Given the description of an element on the screen output the (x, y) to click on. 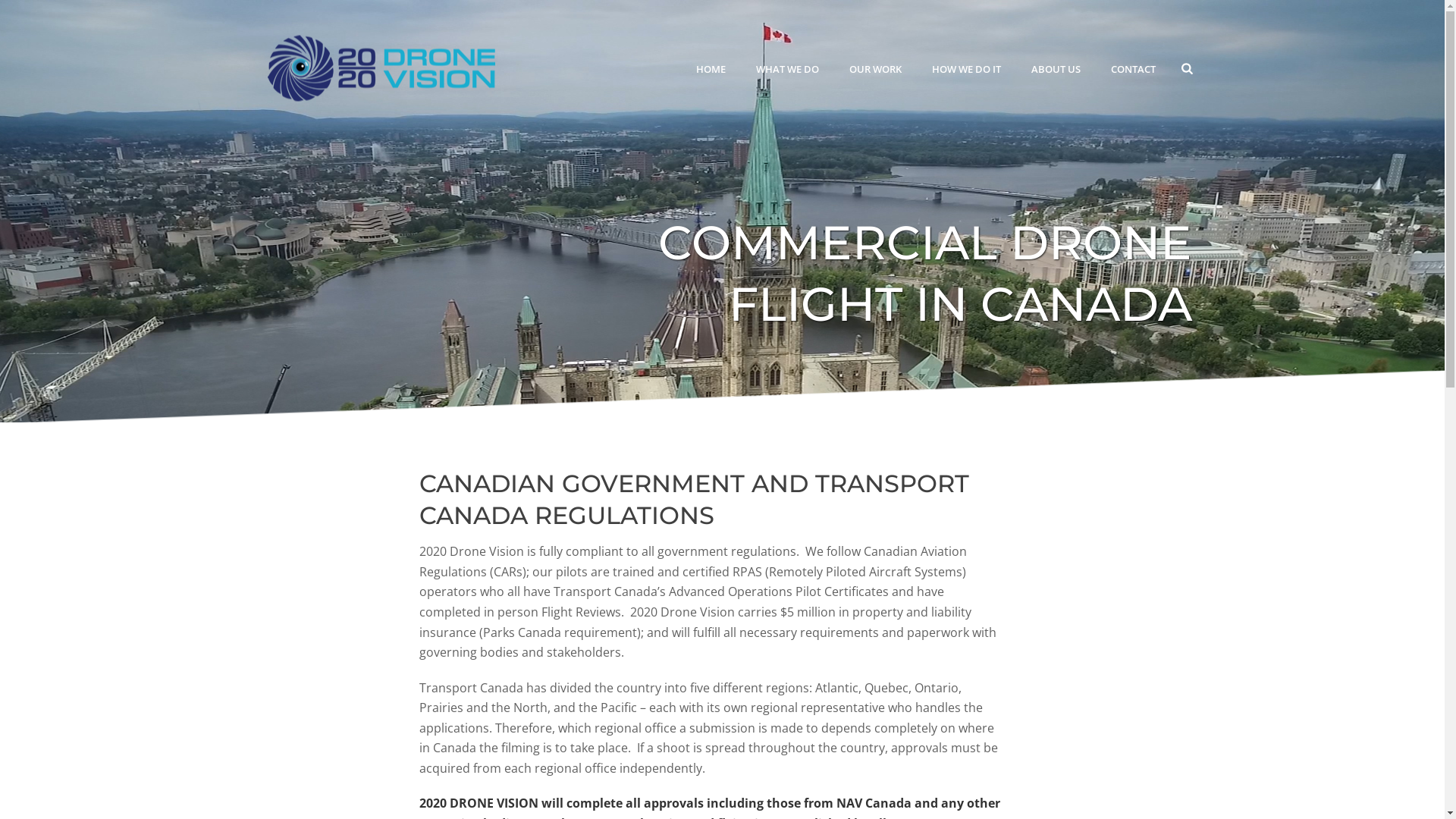
CONTACT Element type: text (1132, 68)
HOW WE DO IT Element type: text (966, 68)
WHAT WE DO Element type: text (787, 68)
ABOUT US Element type: text (1055, 68)
OUR WORK Element type: text (875, 68)
HOME Element type: text (710, 68)
Licensed Drone Video Production Element type: hover (380, 68)
